Given the description of an element on the screen output the (x, y) to click on. 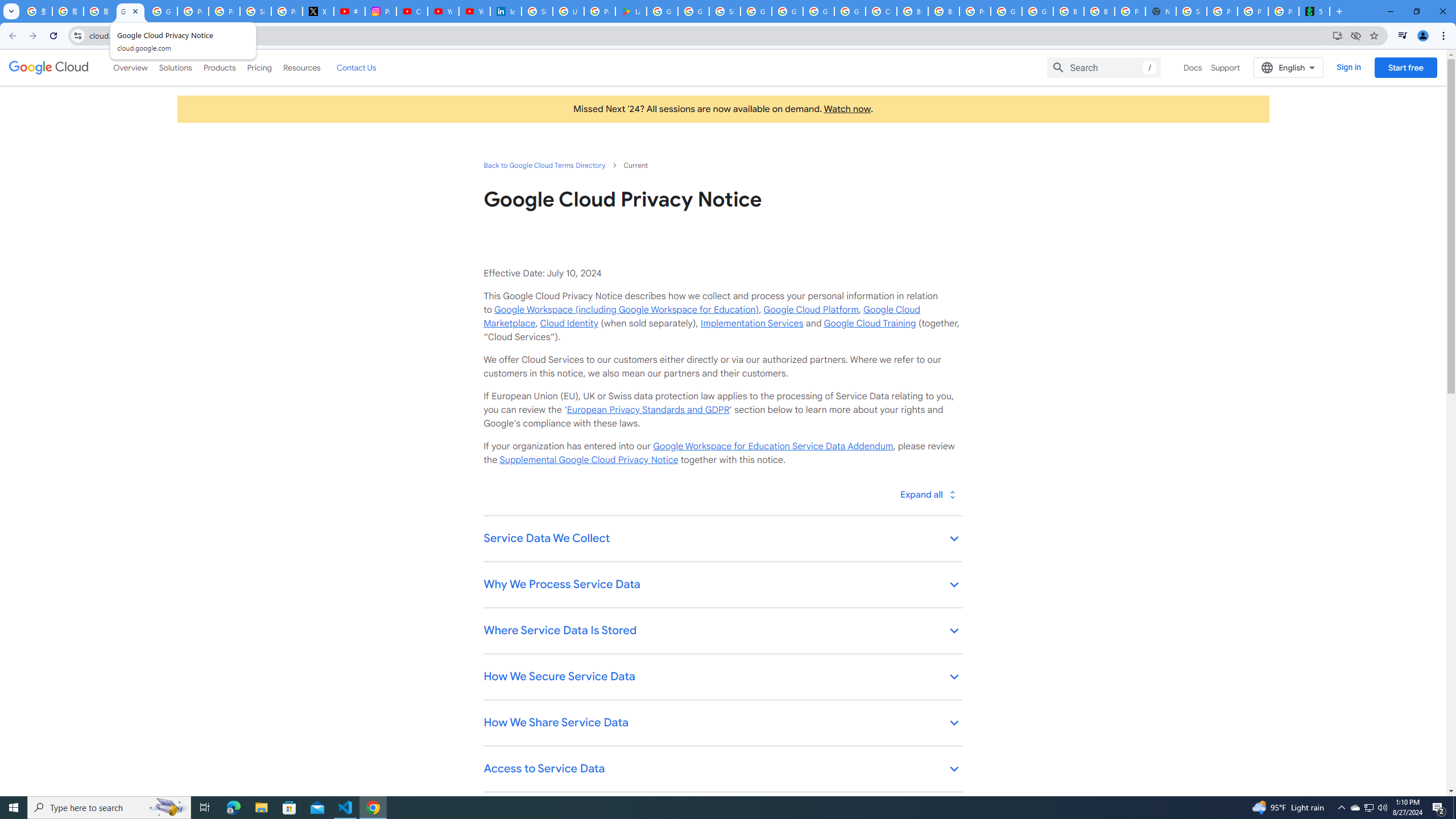
#nbabasketballhighlights - YouTube (349, 11)
X (318, 11)
Why We Process Service Data keyboard_arrow_down (722, 585)
Toggle all (927, 493)
Implementation Services (751, 323)
